Given the description of an element on the screen output the (x, y) to click on. 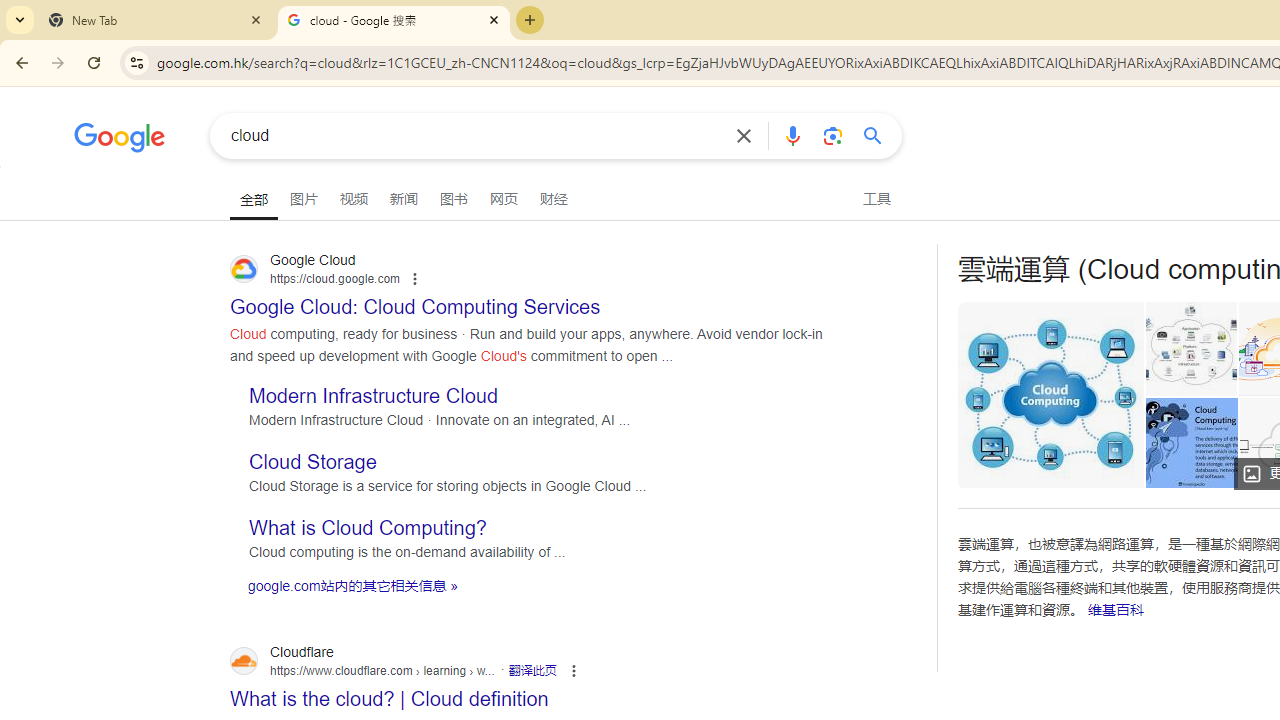
Cloud computing - Wikipedia (1190, 348)
